Given the description of an element on the screen output the (x, y) to click on. 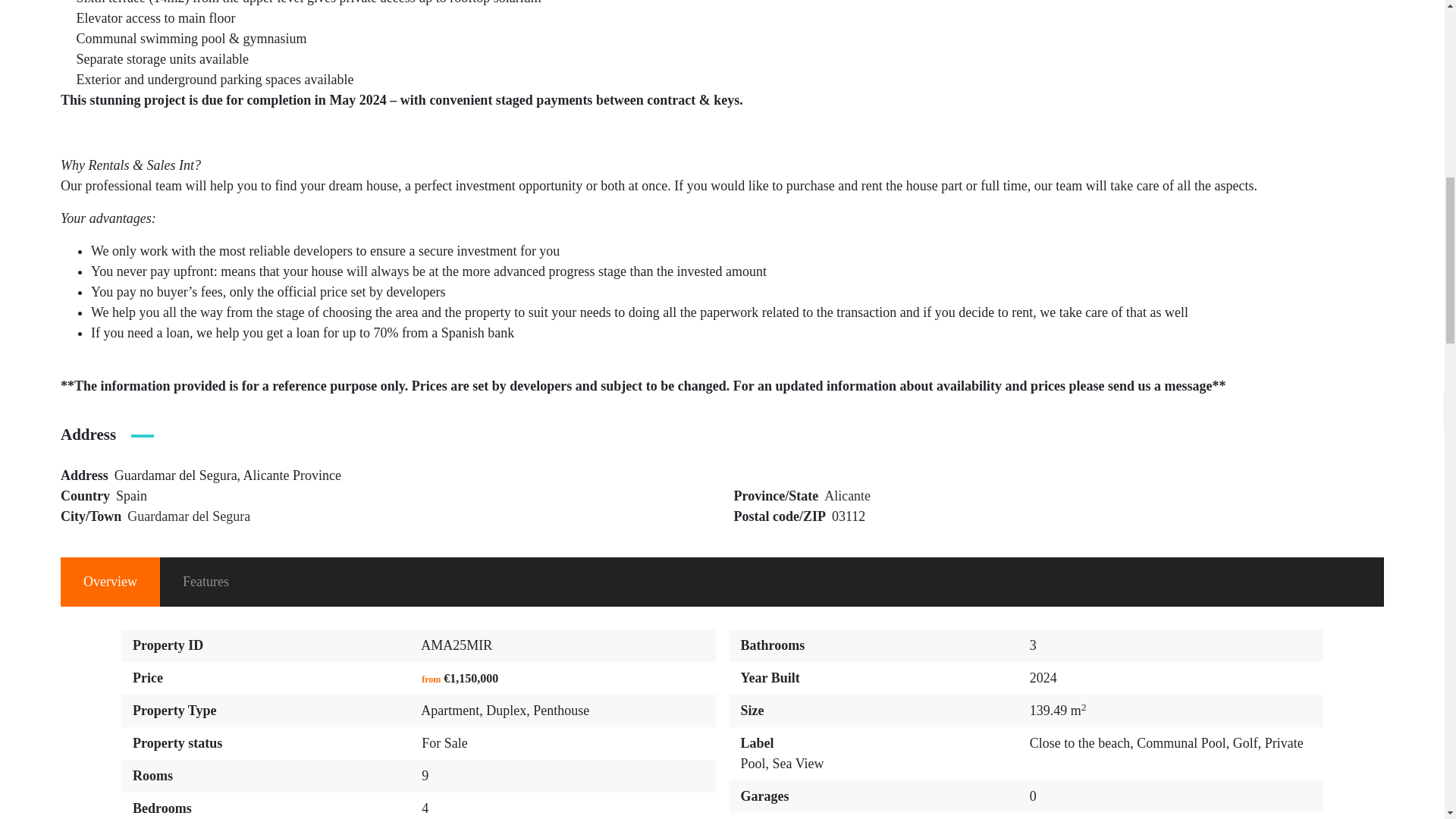
Overview (110, 581)
Alicante (847, 495)
Features (205, 581)
Guardamar del Segura (189, 516)
